Given the description of an element on the screen output the (x, y) to click on. 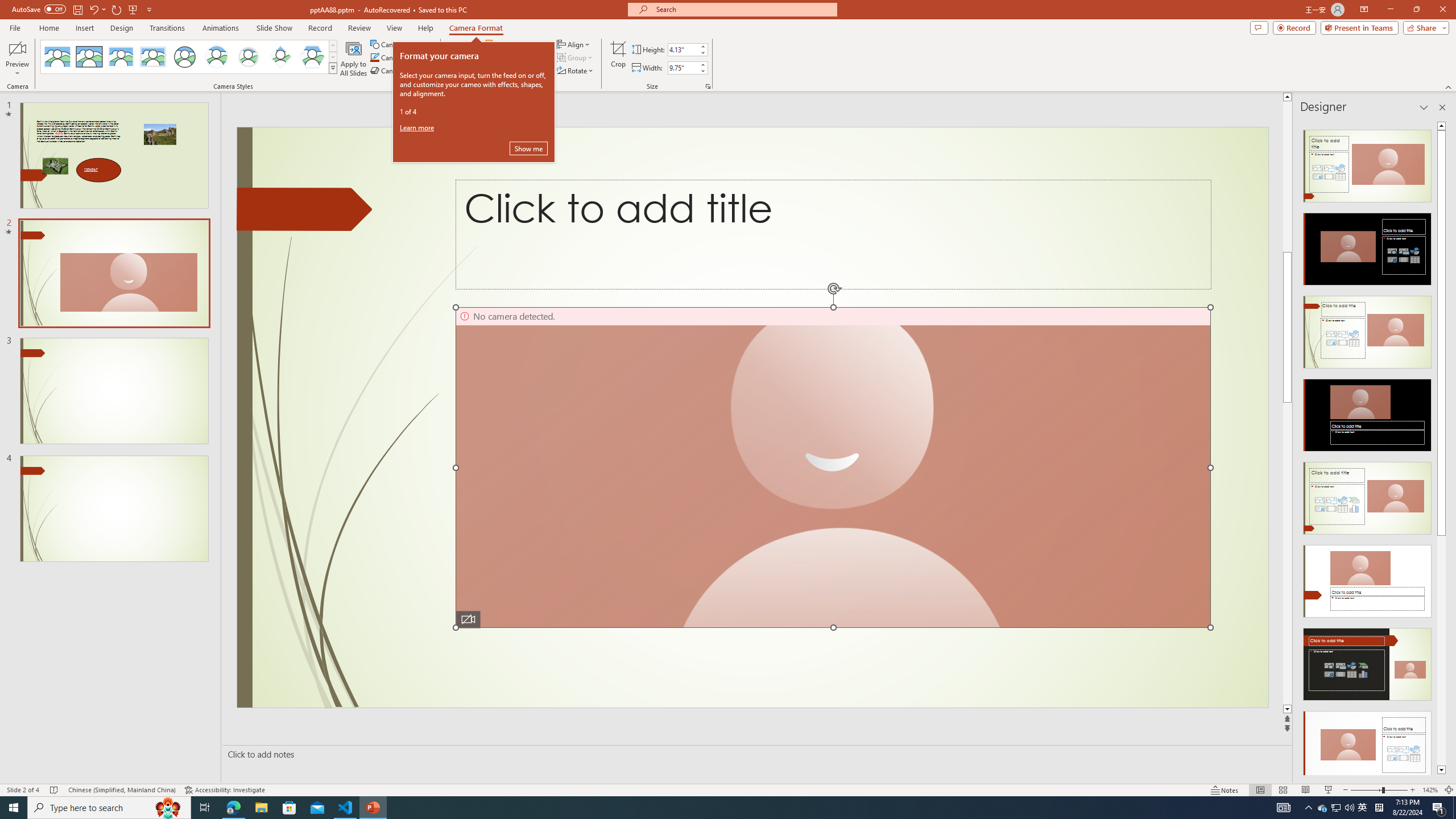
No Style (57, 56)
Soft Edge Circle (248, 56)
Camera 7, No camera detected. (832, 467)
Size and Position... (707, 85)
Simple Frame Circle (184, 56)
